Given the description of an element on the screen output the (x, y) to click on. 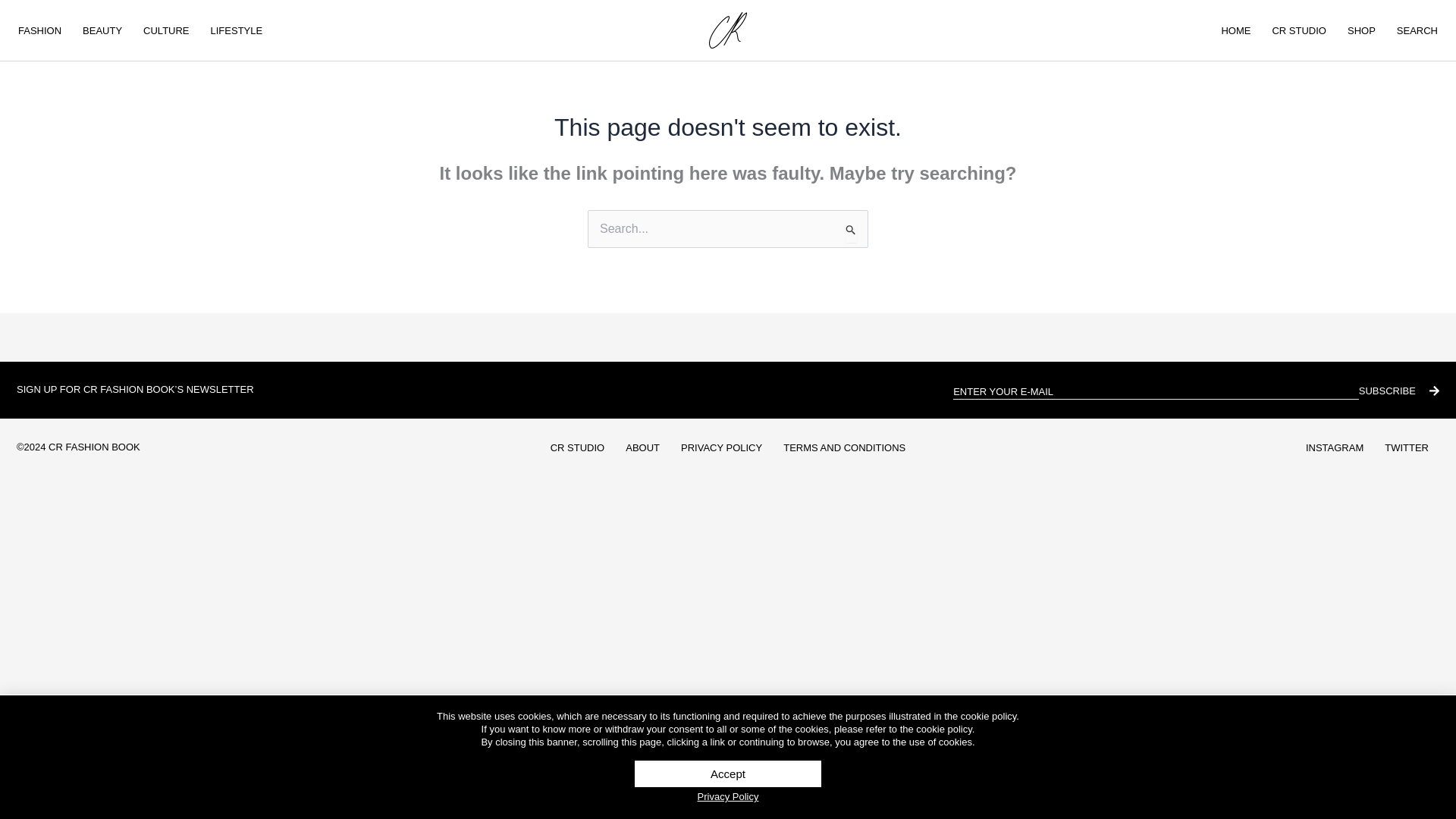
SUBSCRIBE (1398, 390)
TWITTER (1406, 447)
CR STUDIO (577, 447)
HOME (1234, 30)
Accept (727, 773)
BEAUTY (101, 30)
SHOP (1361, 30)
TERMS AND CONDITIONS (844, 447)
PRIVACY POLICY (721, 447)
LIFESTYLE (236, 30)
CR STUDIO (1298, 30)
SEARCH (1417, 30)
ABOUT (641, 447)
Privacy Policy (727, 796)
INSTAGRAM (1334, 447)
